Given the description of an element on the screen output the (x, y) to click on. 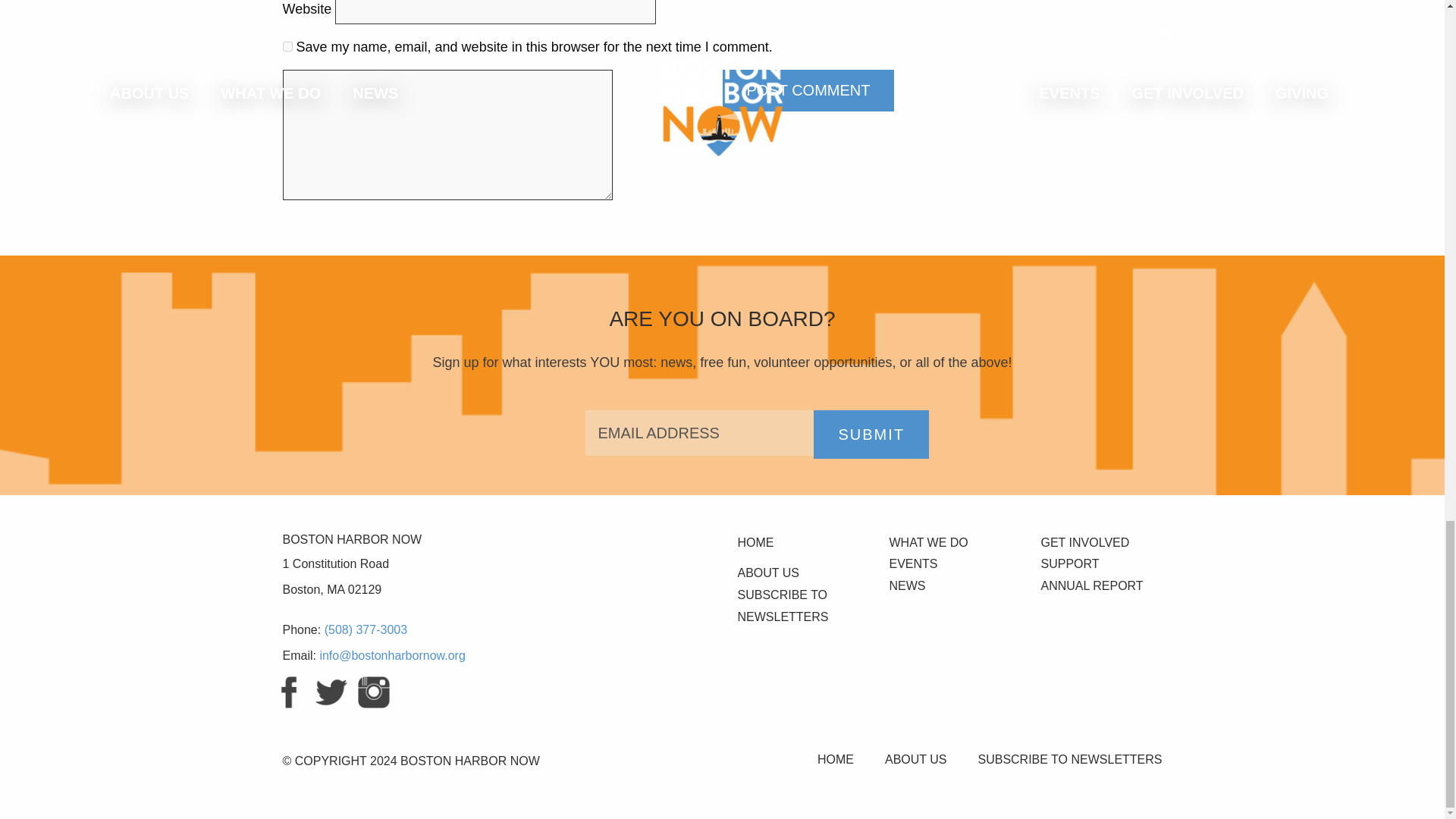
yes (287, 46)
Email Address (699, 432)
Submit (870, 434)
Post Comment (807, 90)
